Given the description of an element on the screen output the (x, y) to click on. 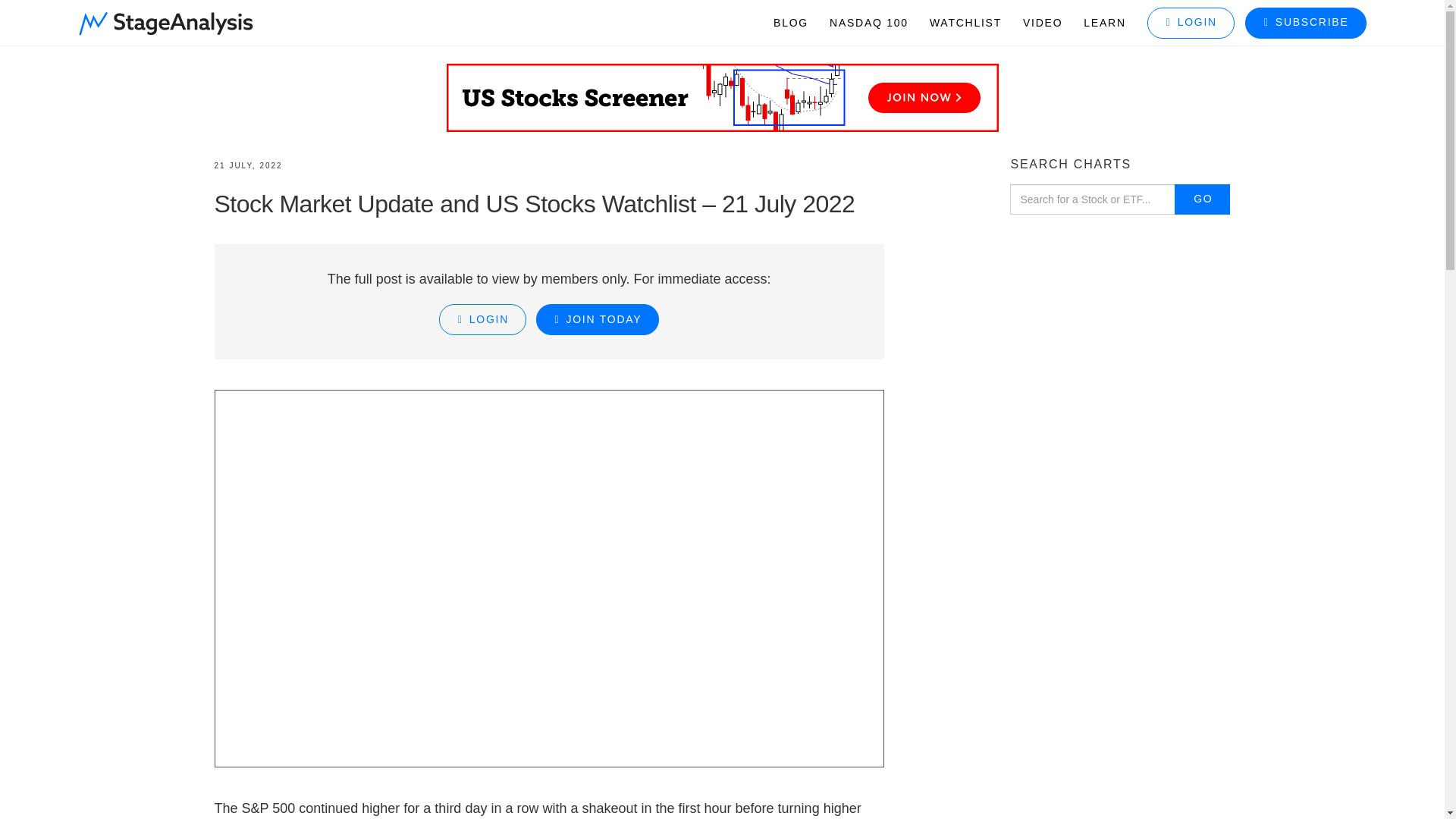
BLOG (790, 22)
LOGIN (1185, 22)
LEARN (1104, 22)
WATCHLIST (964, 22)
VIDEO (1042, 22)
NASDAQ 100 (868, 22)
LOGIN (482, 318)
SUBSCRIBE (1300, 22)
JOIN TODAY (597, 318)
